Given the description of an element on the screen output the (x, y) to click on. 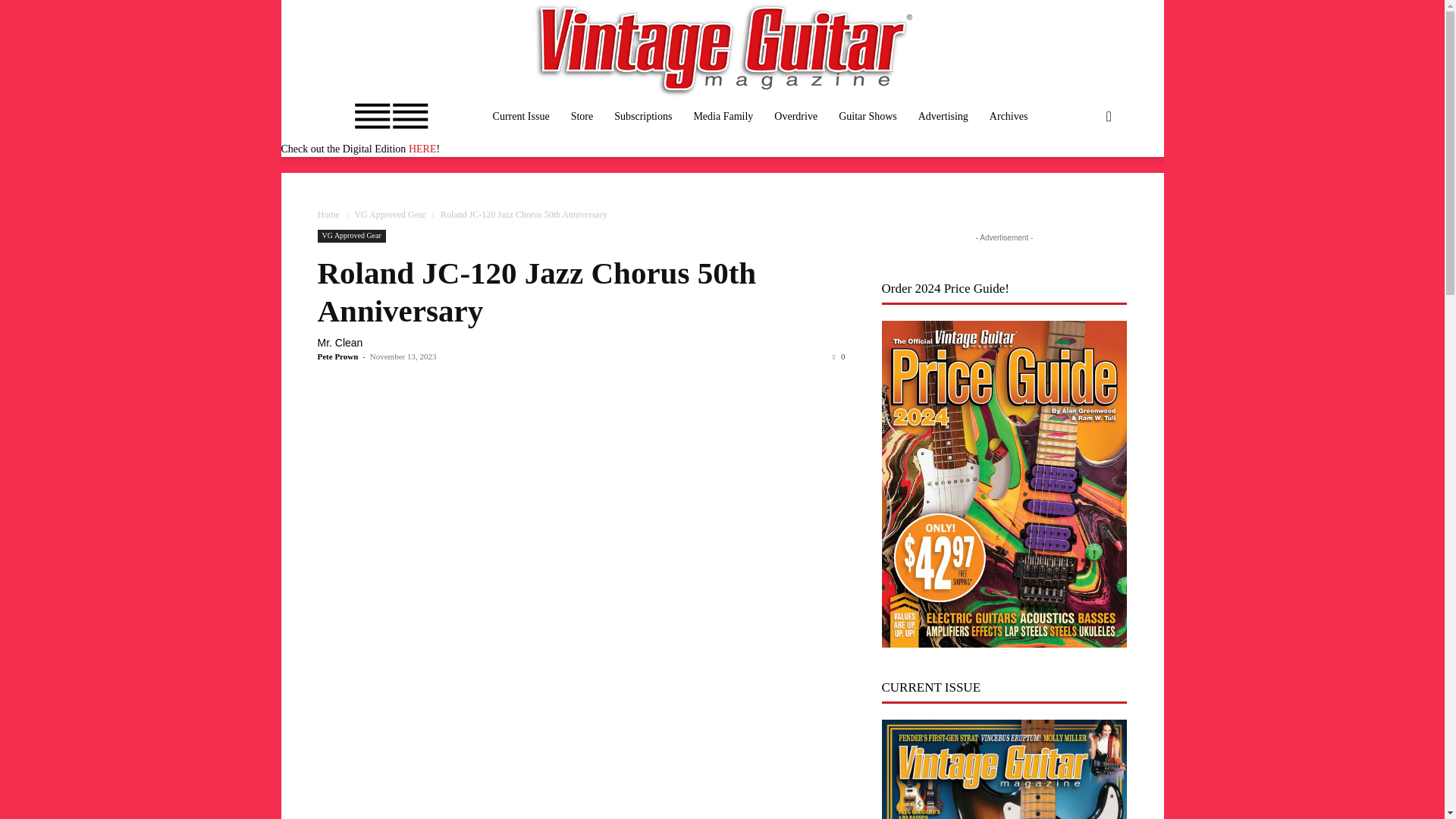
Table of Contents (520, 116)
View all posts in VG Approved Gear (389, 214)
Roland JC-120 Jazz Chorus 50th Anniversary (536, 291)
Browse Vintage Guitar Store (582, 116)
